Given the description of an element on the screen output the (x, y) to click on. 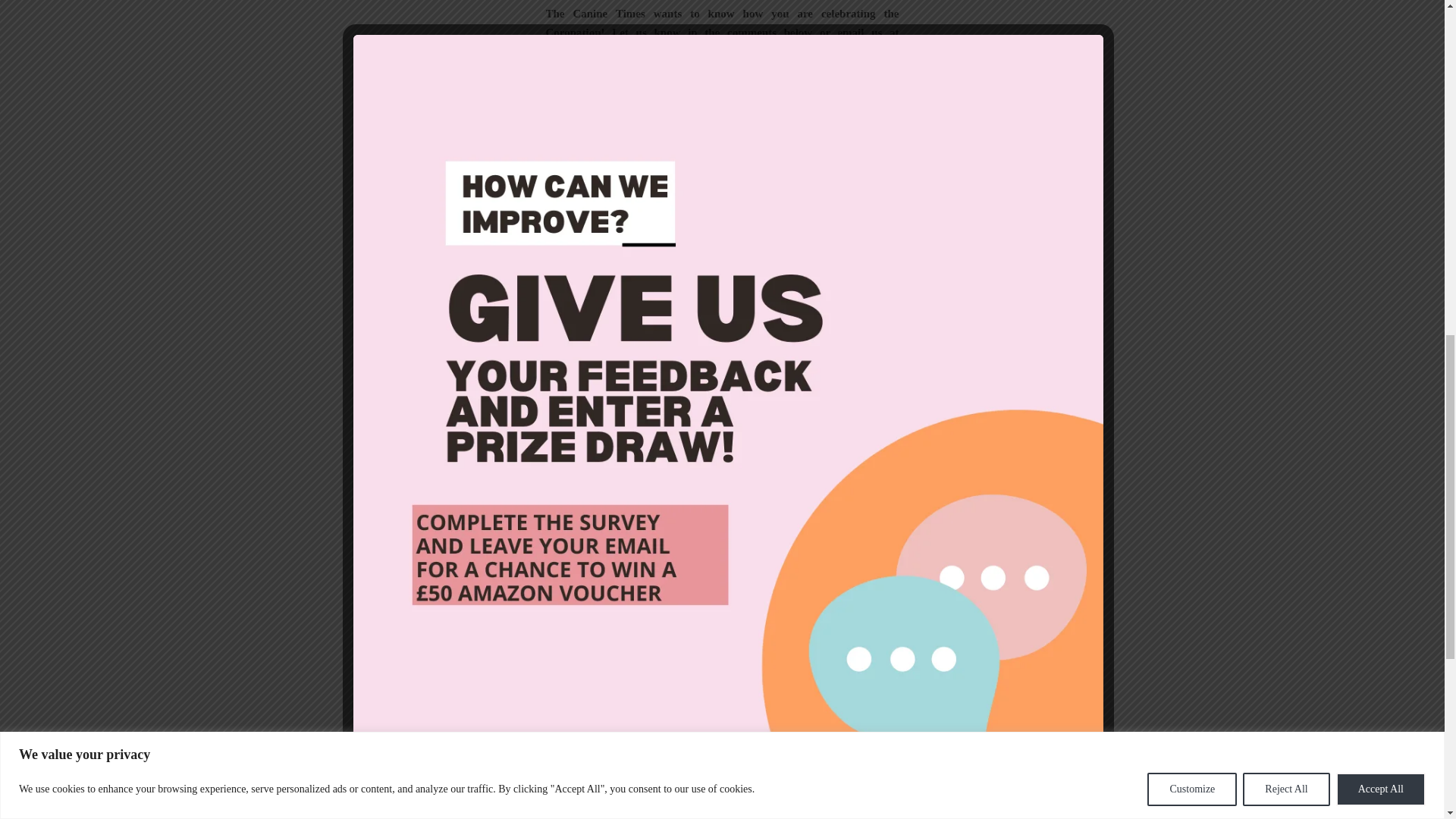
yes (551, 757)
West London salon treats dogs rescued from meat trade (812, 275)
Creative grooming salon opens in Midlothian (631, 275)
Dog groomer relocates business to Tyneside (812, 157)
